Given the description of an element on the screen output the (x, y) to click on. 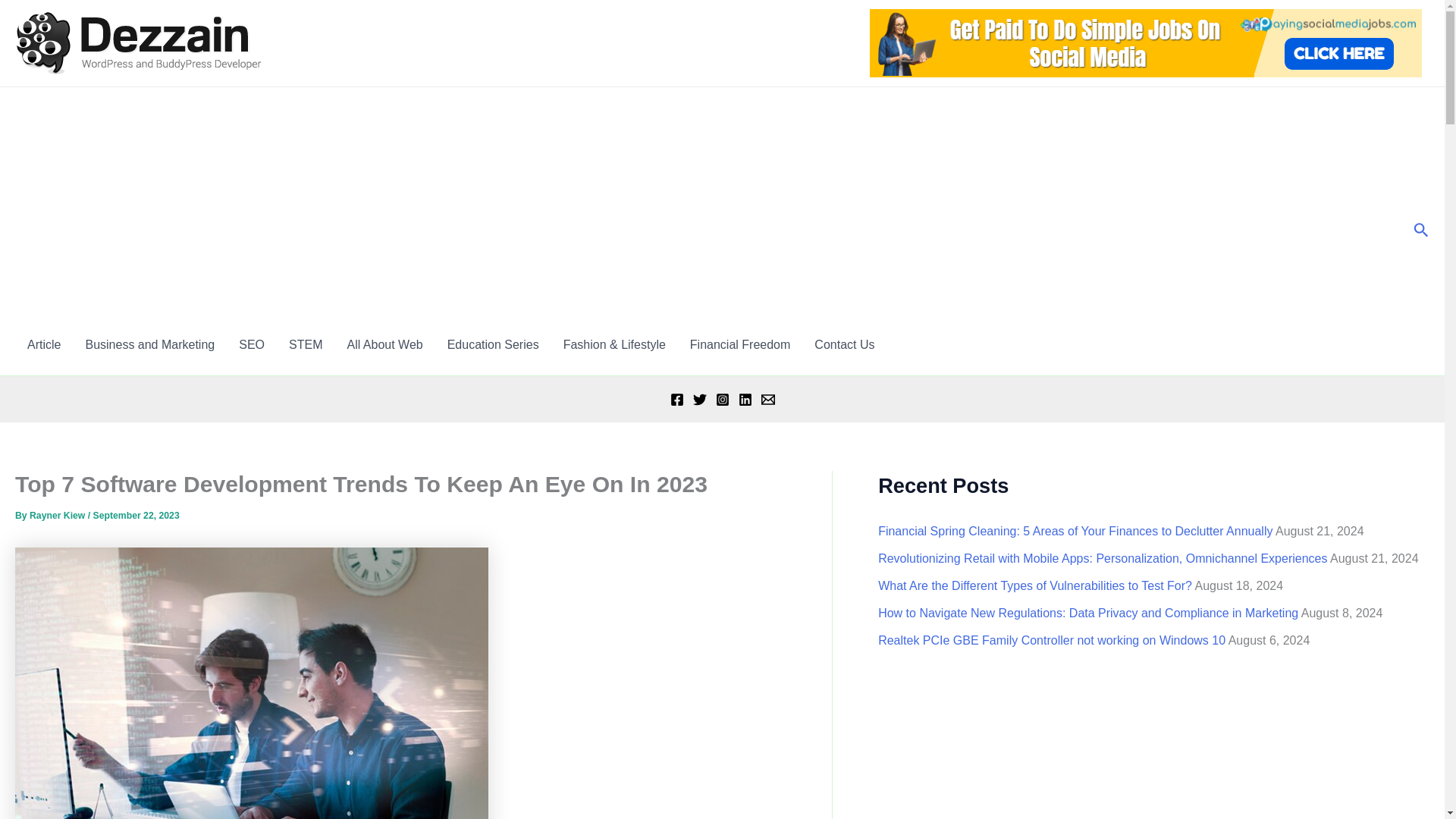
Education Series (493, 344)
Rayner Kiew (58, 515)
Financial Freedom (740, 344)
any inquiries? (844, 344)
STEM (305, 344)
View all posts by Rayner Kiew (58, 515)
All About Web (383, 344)
Business and Marketing (149, 344)
Contact Us (844, 344)
